Given the description of an element on the screen output the (x, y) to click on. 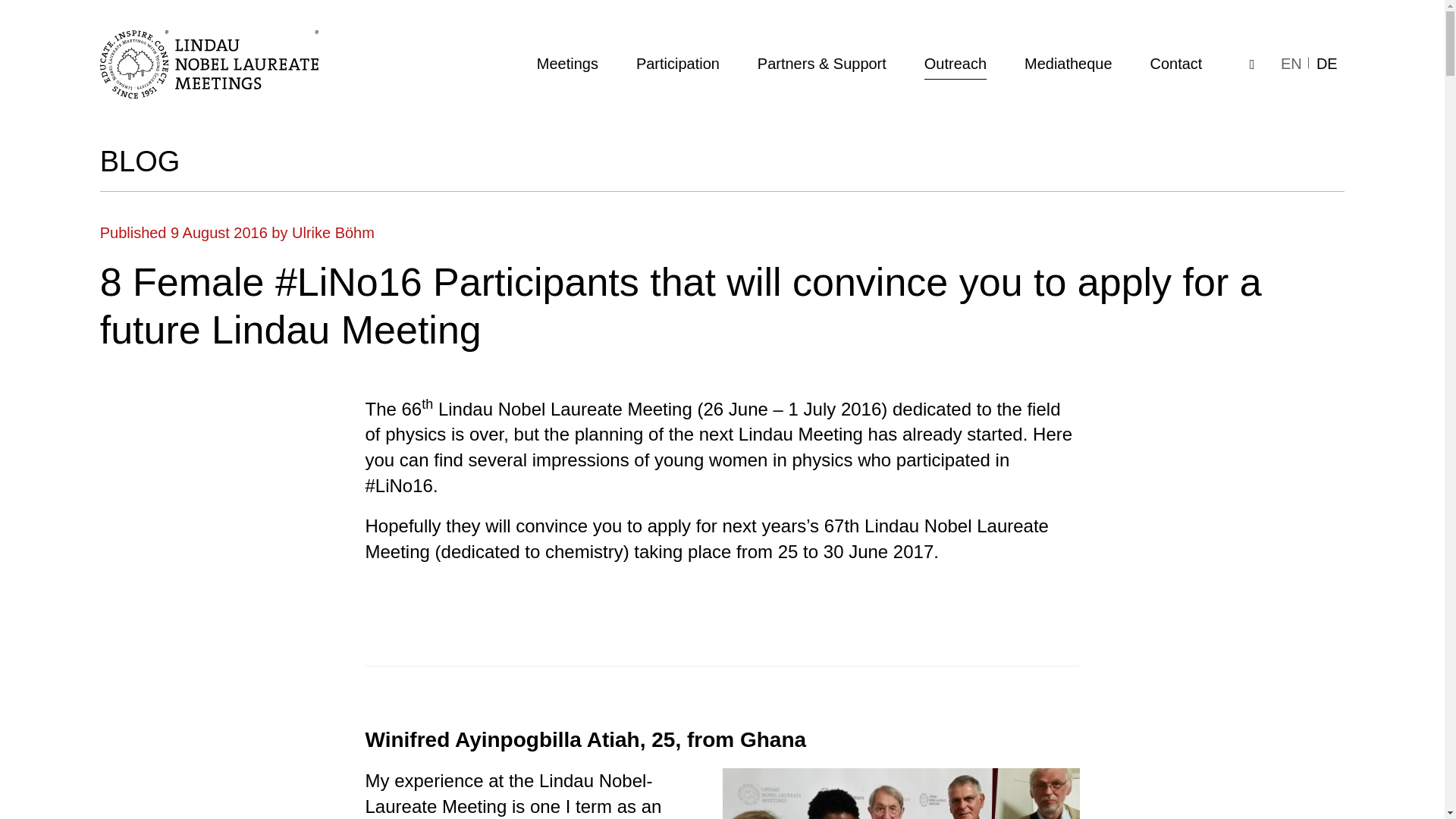
Participation (677, 63)
Meetings (567, 63)
Outreach (955, 63)
Mediatheque (1068, 63)
